Given the description of an element on the screen output the (x, y) to click on. 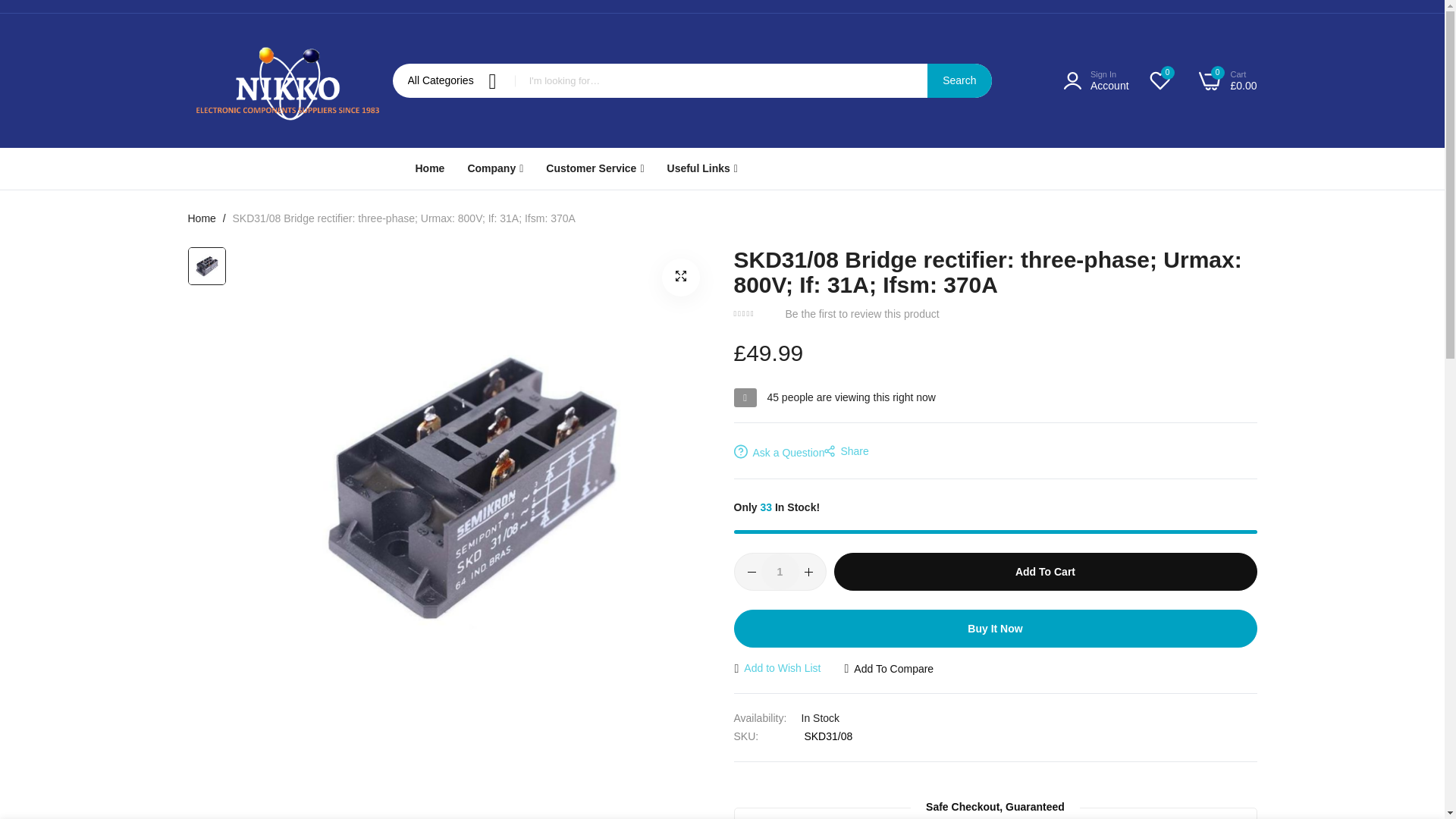
0 (1160, 80)
Add to Cart (1045, 571)
Go to Home Page (201, 218)
Search (959, 80)
Customer Service (594, 168)
Company (494, 168)
Buy Now (995, 628)
Ask a Question (779, 452)
Share (845, 451)
Search (959, 80)
